Given the description of an element on the screen output the (x, y) to click on. 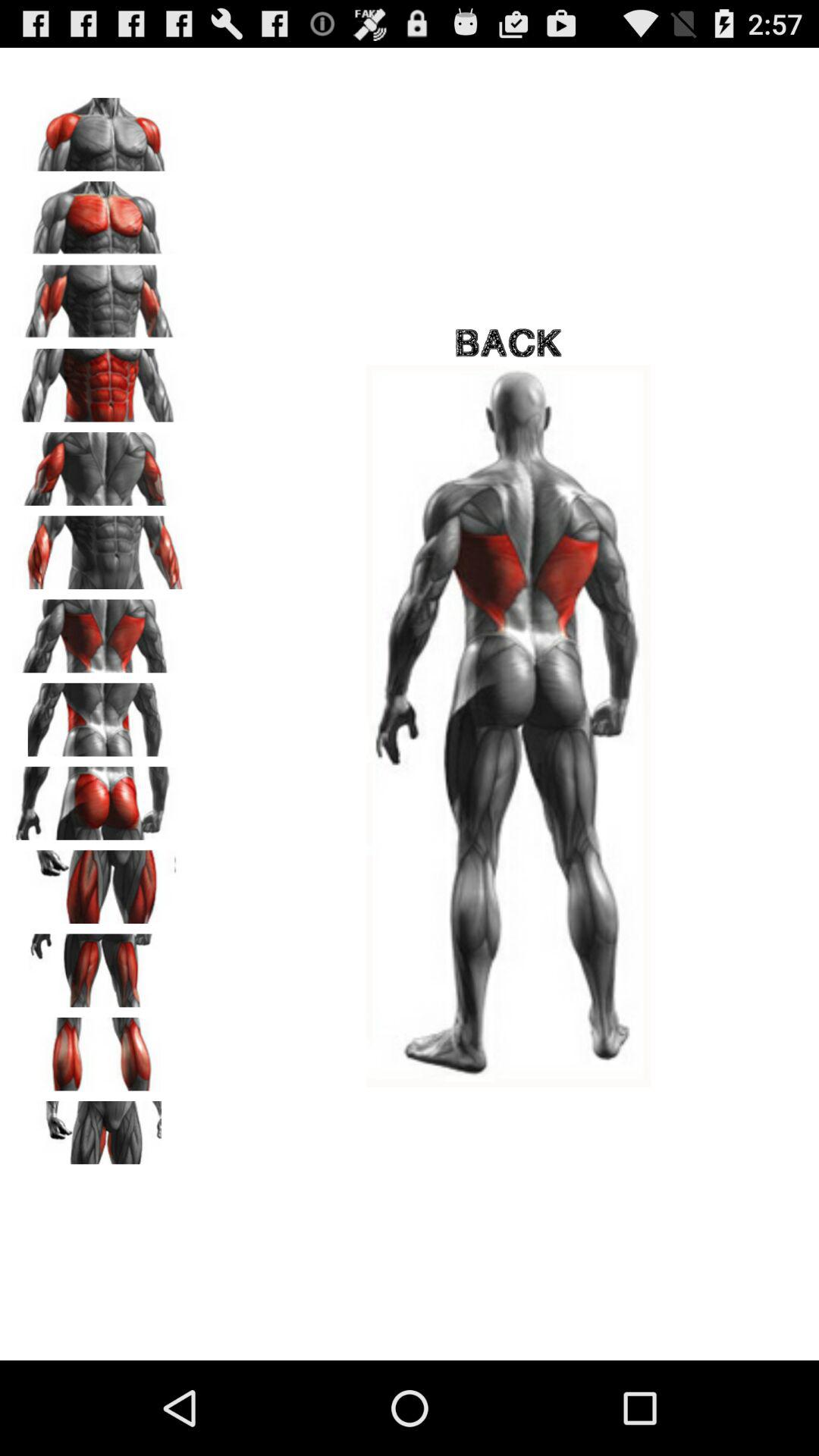
view image (99, 1132)
